Given the description of an element on the screen output the (x, y) to click on. 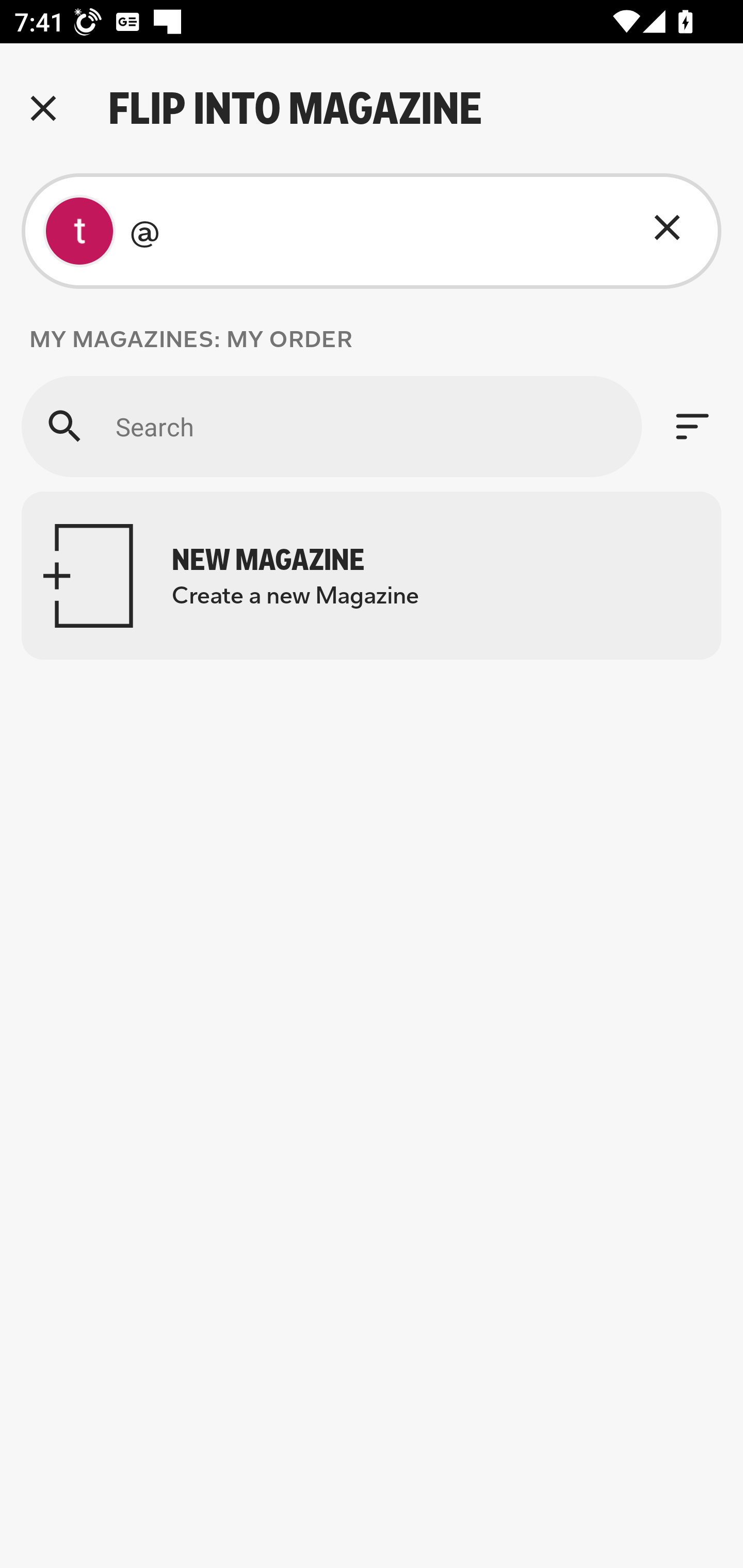
test appium @ (371, 231)
Search (331, 426)
NEW MAGAZINE Create a new Magazine (371, 575)
